Given the description of an element on the screen output the (x, y) to click on. 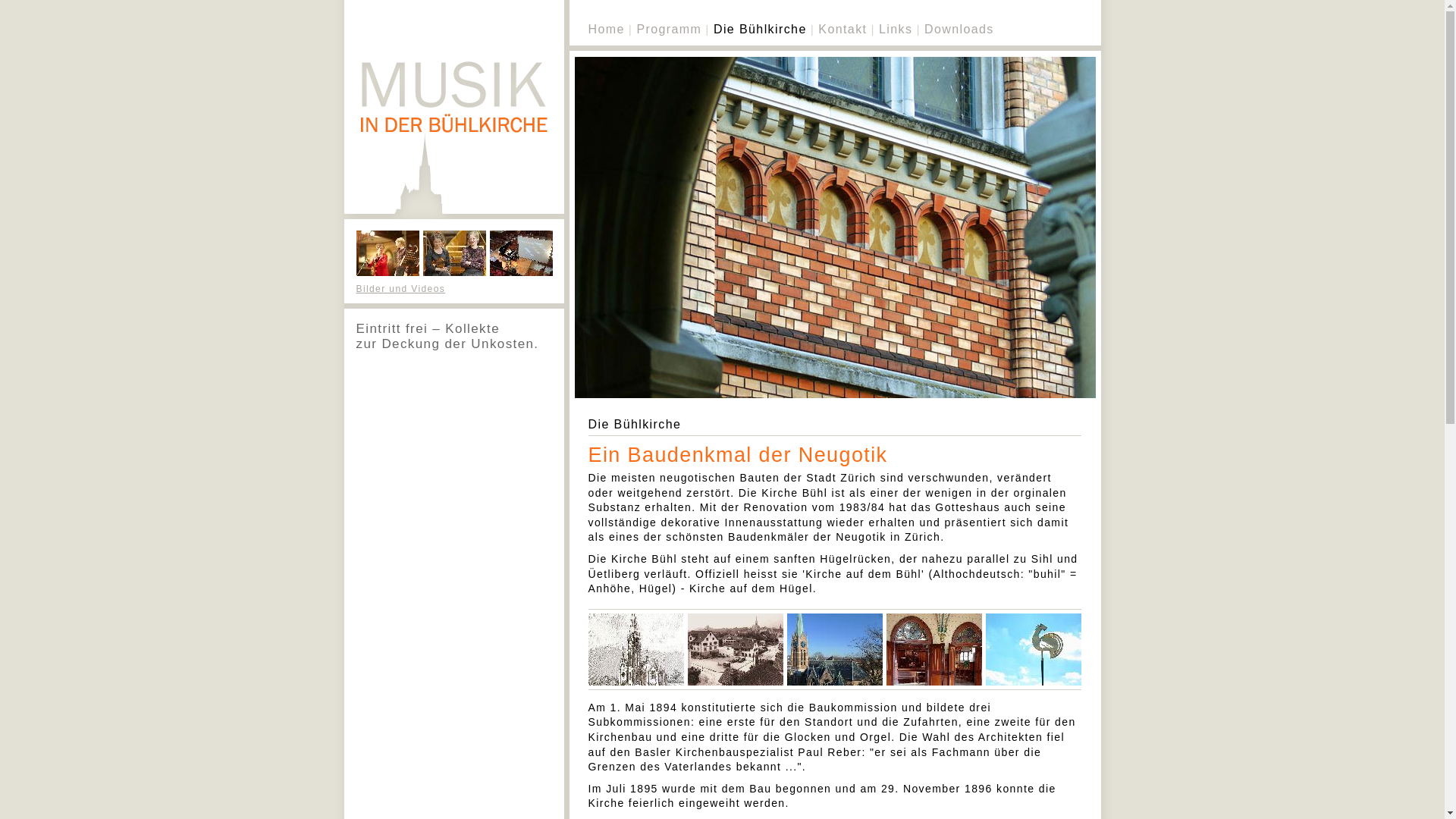
Kontakt Element type: text (842, 28)
Programm Element type: text (668, 28)
Bilder und Videos Element type: text (400, 288)
Downloads Element type: text (959, 28)
Home Element type: text (606, 28)
Links Element type: text (895, 28)
